Given the description of an element on the screen output the (x, y) to click on. 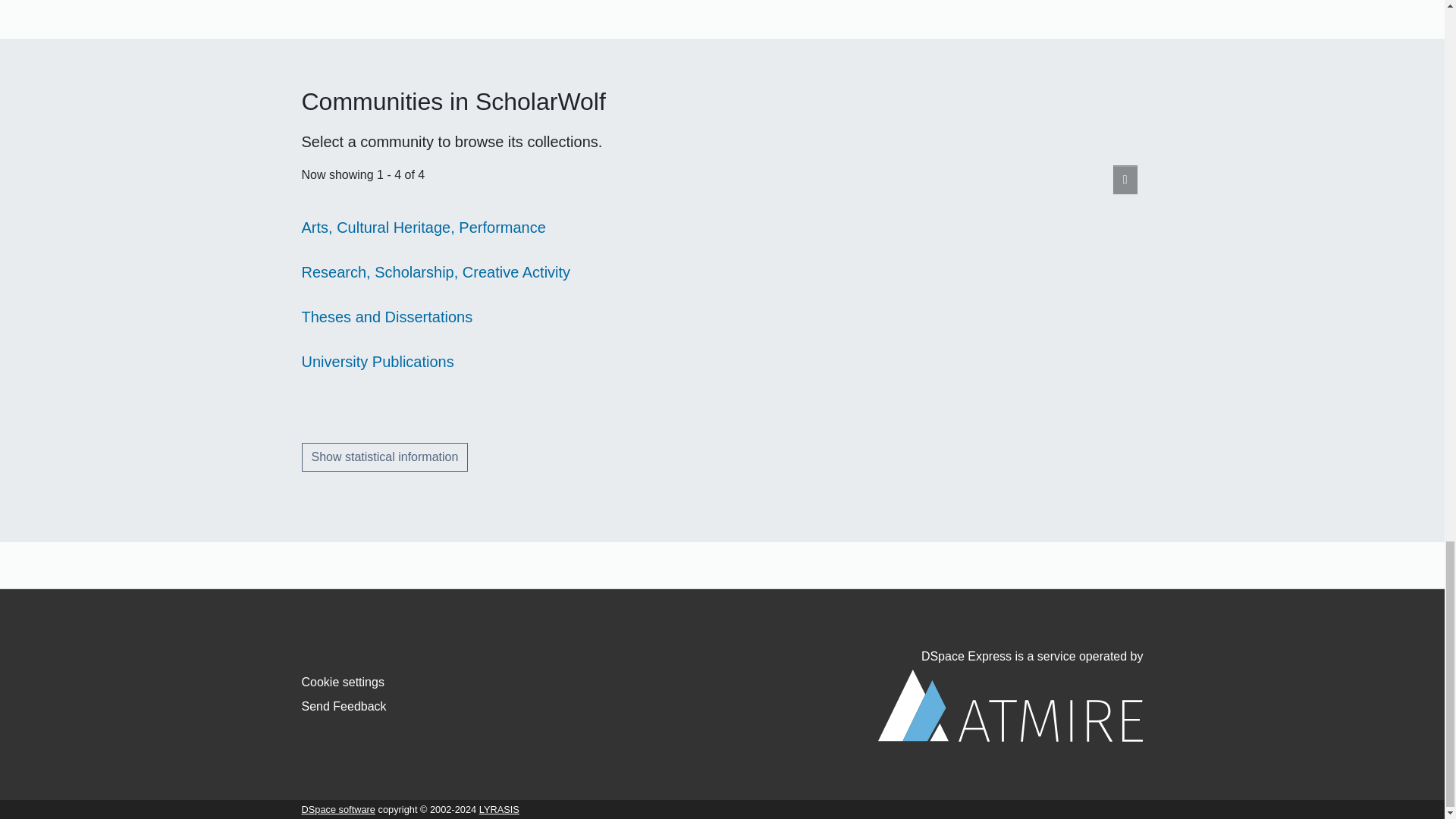
Research, Scholarship, Creative Activity (435, 271)
University Publications (377, 361)
Theses and Dissertations (387, 316)
Cookie settings (342, 681)
Arts, Cultural Heritage, Performance (423, 227)
Show statistical information (384, 457)
